Given the description of an element on the screen output the (x, y) to click on. 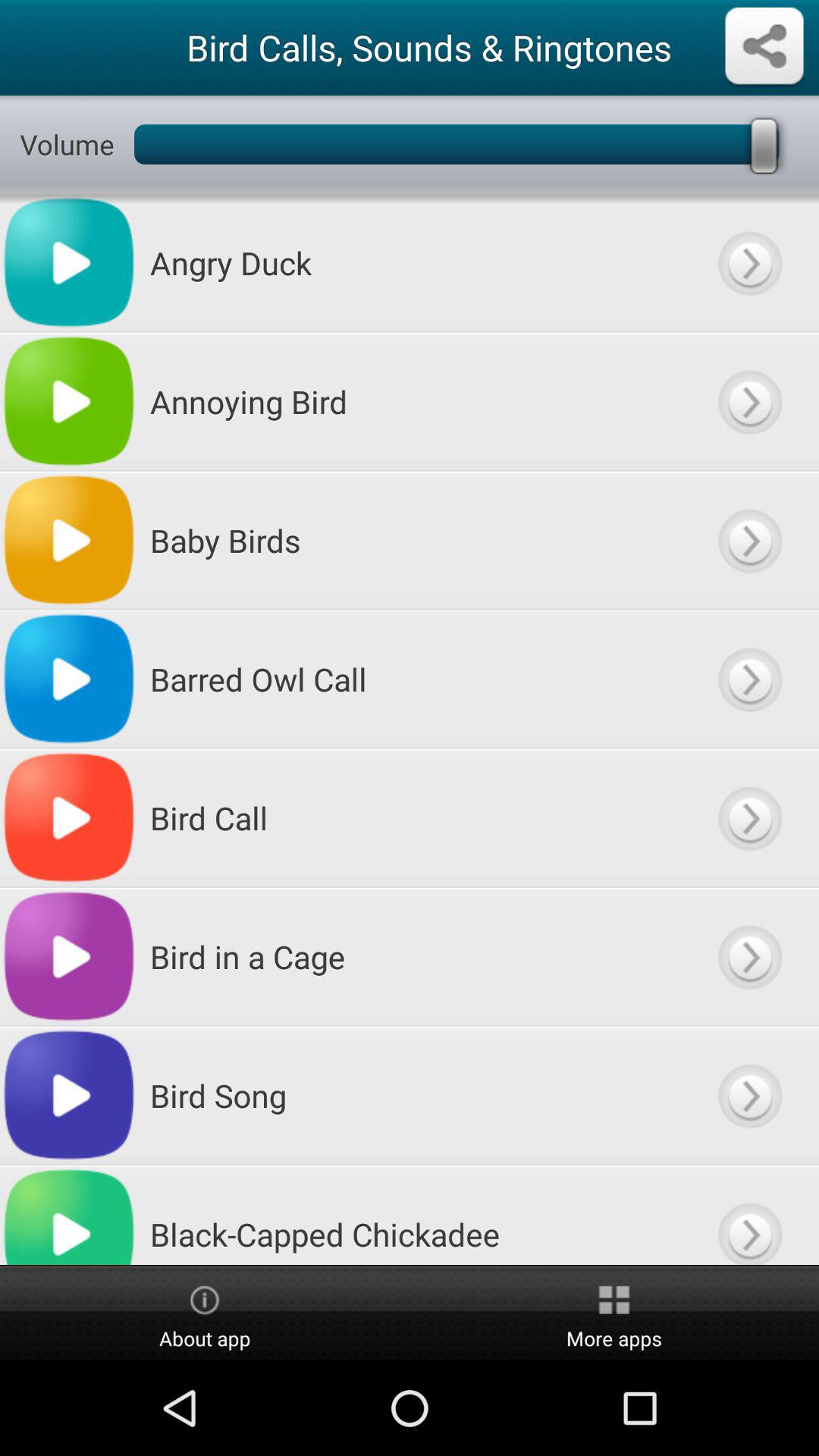
play (749, 1095)
